Given the description of an element on the screen output the (x, y) to click on. 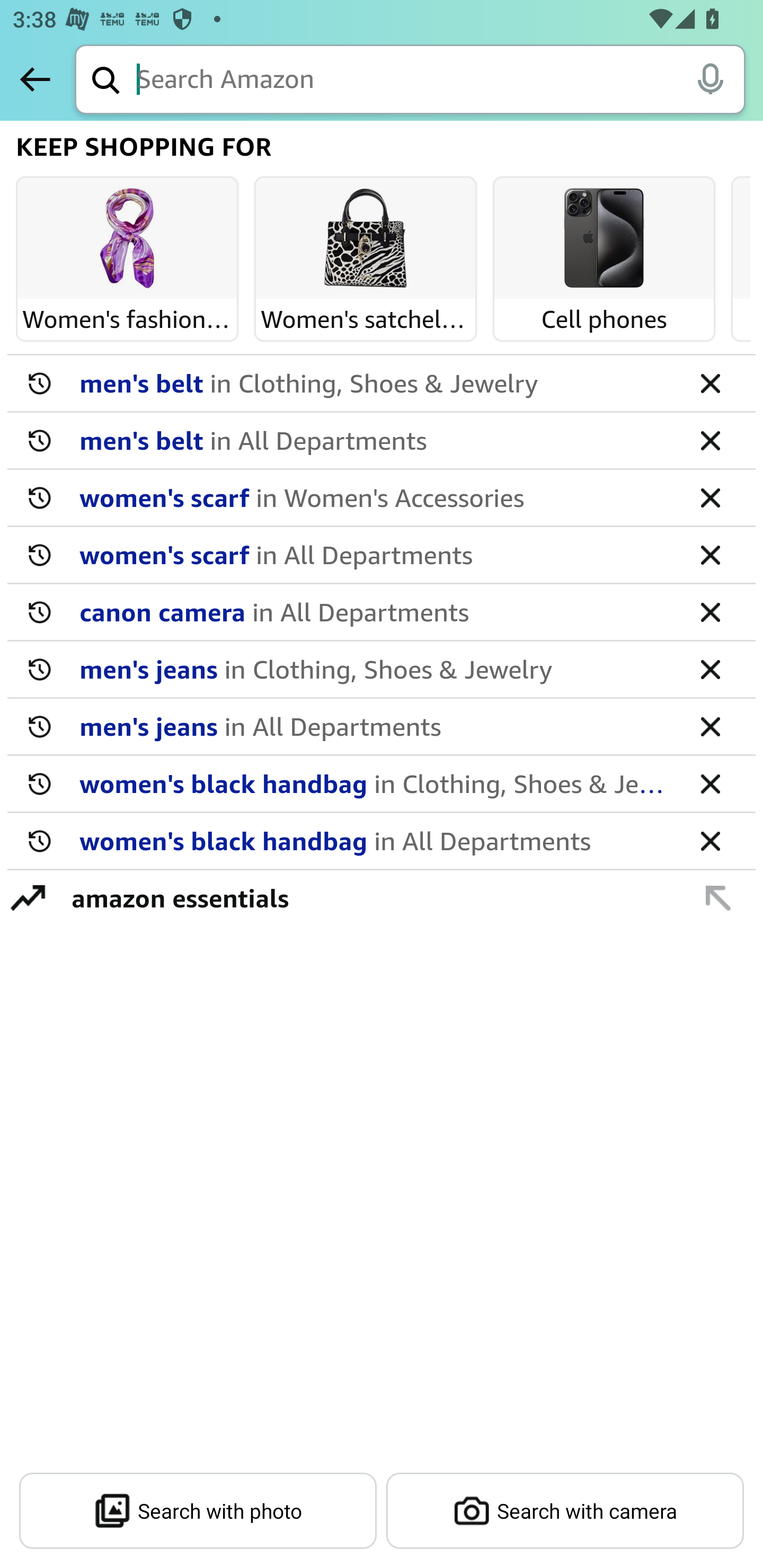
Search Amazon (440, 80)
Back (35, 78)
Alexa (710, 78)
Women's fashion scarves (126, 238)
Women's satchel handbags (365, 238)
Cell phones (603, 238)
men's belt delete (381, 383)
men's belt (374, 382)
delete (710, 382)
men's belt delete (381, 440)
men's belt (374, 439)
delete (710, 439)
women's scarf delete (381, 497)
women's scarf (374, 496)
delete (710, 496)
women's scarf delete (381, 554)
women's scarf (374, 554)
delete (710, 554)
canon camera delete (381, 612)
canon camera (374, 611)
delete (710, 611)
men's jeans delete (381, 669)
men's jeans (374, 668)
delete (710, 668)
men's jeans delete (381, 726)
men's jeans (374, 725)
delete (710, 725)
women's black handbag delete (381, 783)
women's black handbag (374, 783)
delete (710, 783)
women's black handbag delete (381, 841)
women's black handbag (374, 840)
delete (710, 840)
amazon essentials append suggestion (381, 897)
amazon essentials (370, 897)
append suggestion (718, 897)
Search with photo (197, 1510)
Search with camera (564, 1510)
